Given the description of an element on the screen output the (x, y) to click on. 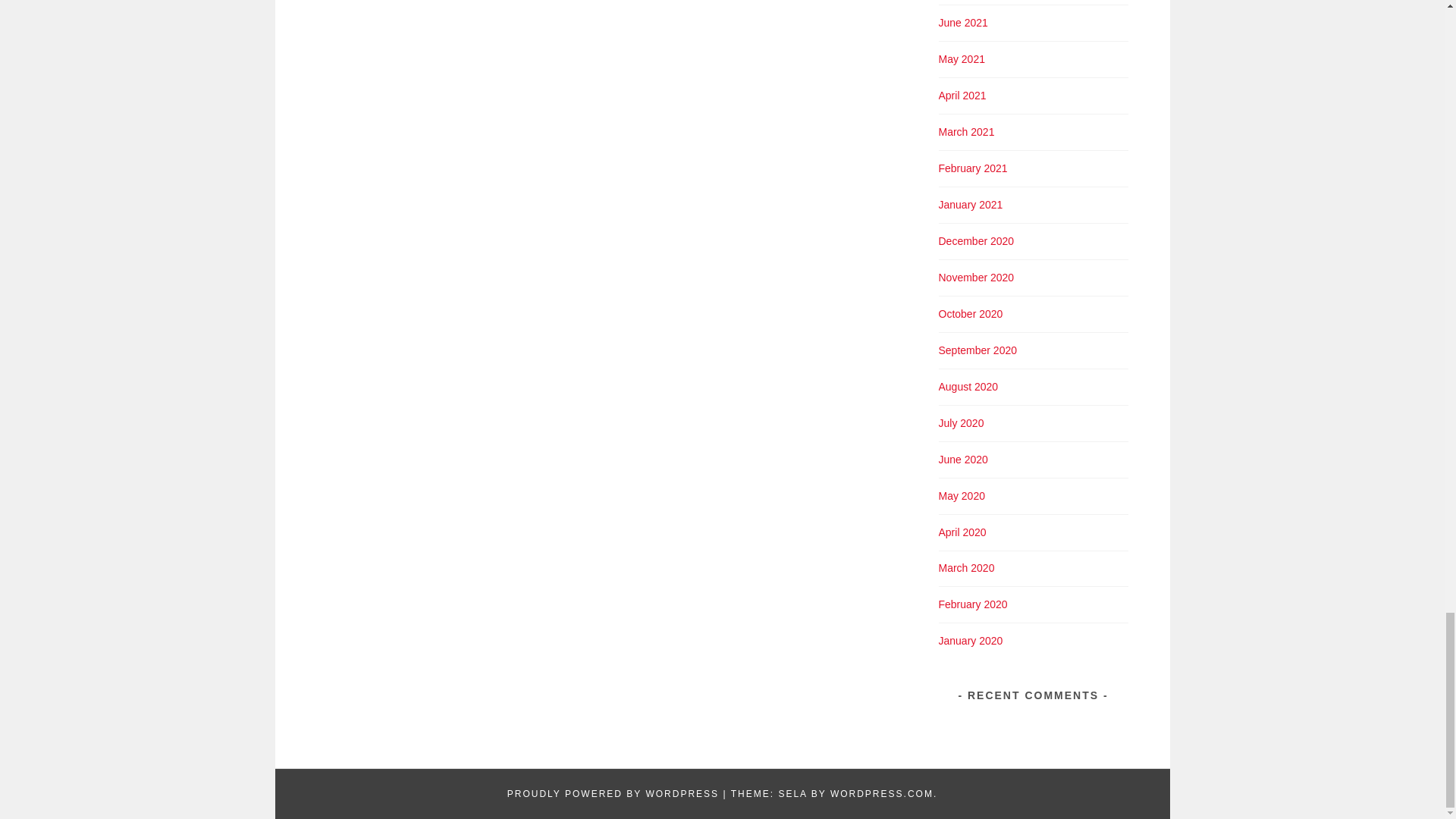
A Semantic Personal Publishing Platform (612, 793)
